Given the description of an element on the screen output the (x, y) to click on. 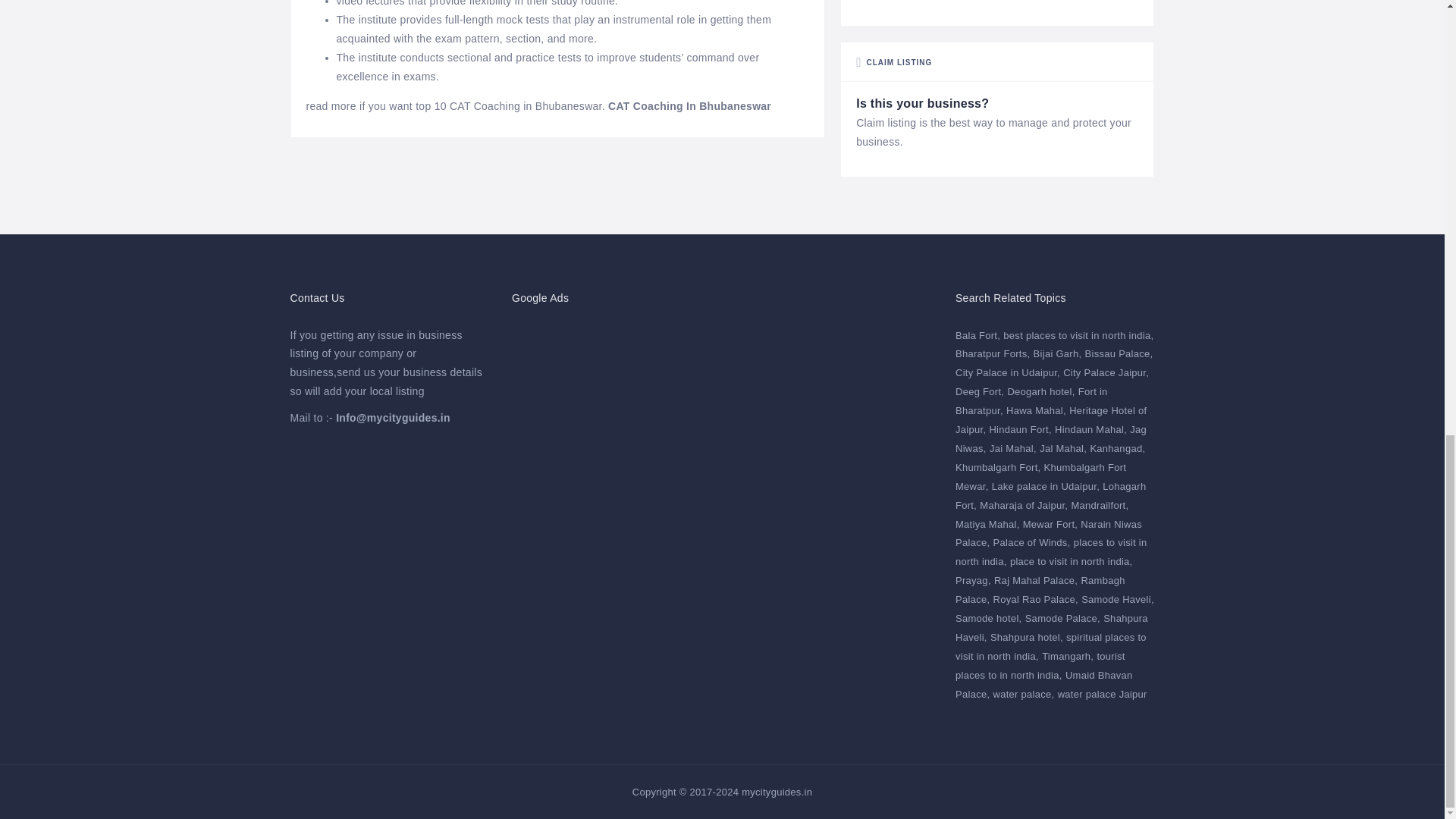
Bharatpur Forts (992, 353)
Bissau Palace (1118, 353)
best places to visit in north india (1078, 335)
Bala Fort (977, 335)
CAT Coaching In Bhubaneswar (689, 105)
City Palace in Udaipur (1007, 372)
Bijai Garh (1057, 353)
